Given the description of an element on the screen output the (x, y) to click on. 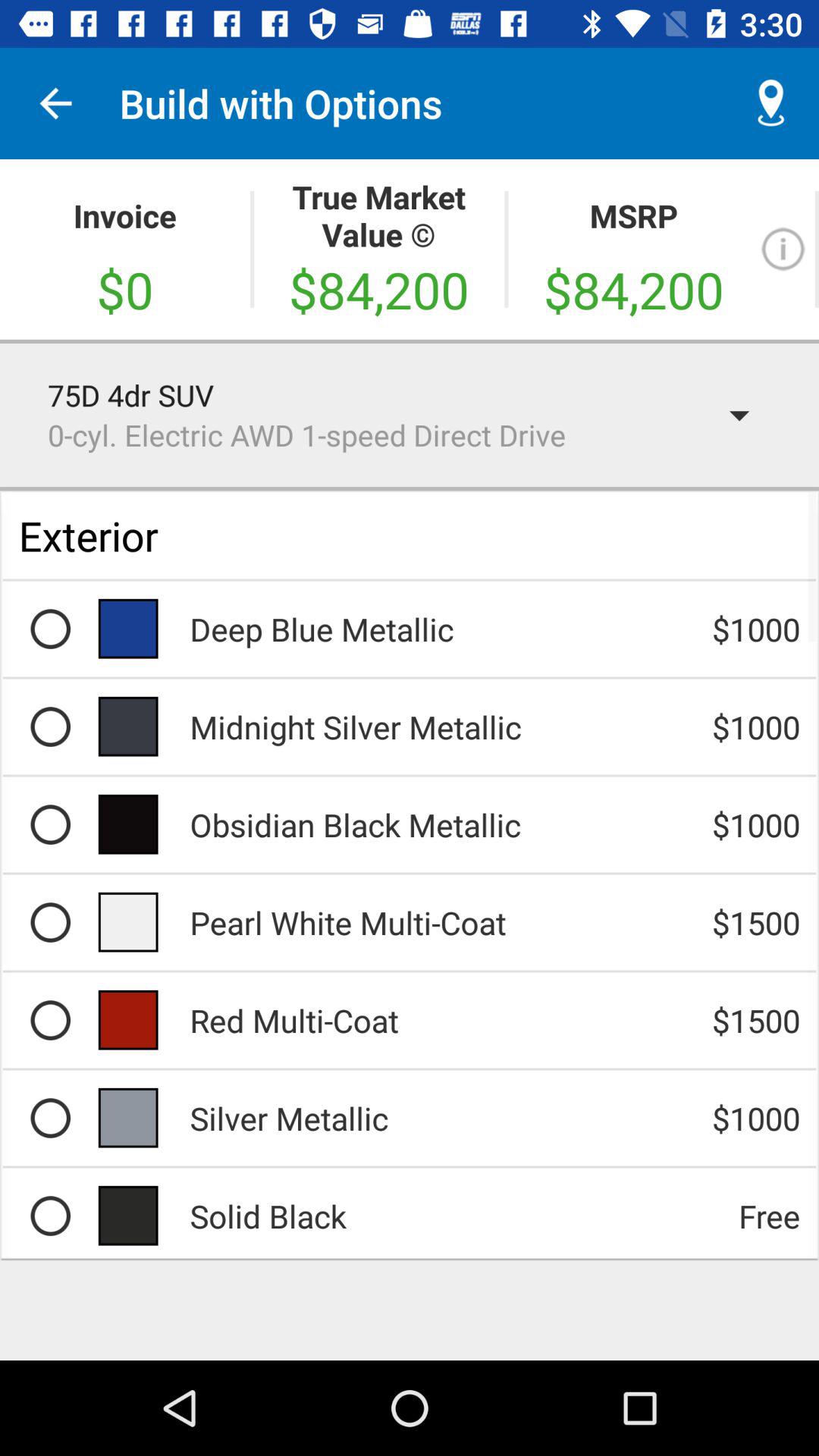
choose obsidian black mettalic (50, 824)
